Given the description of an element on the screen output the (x, y) to click on. 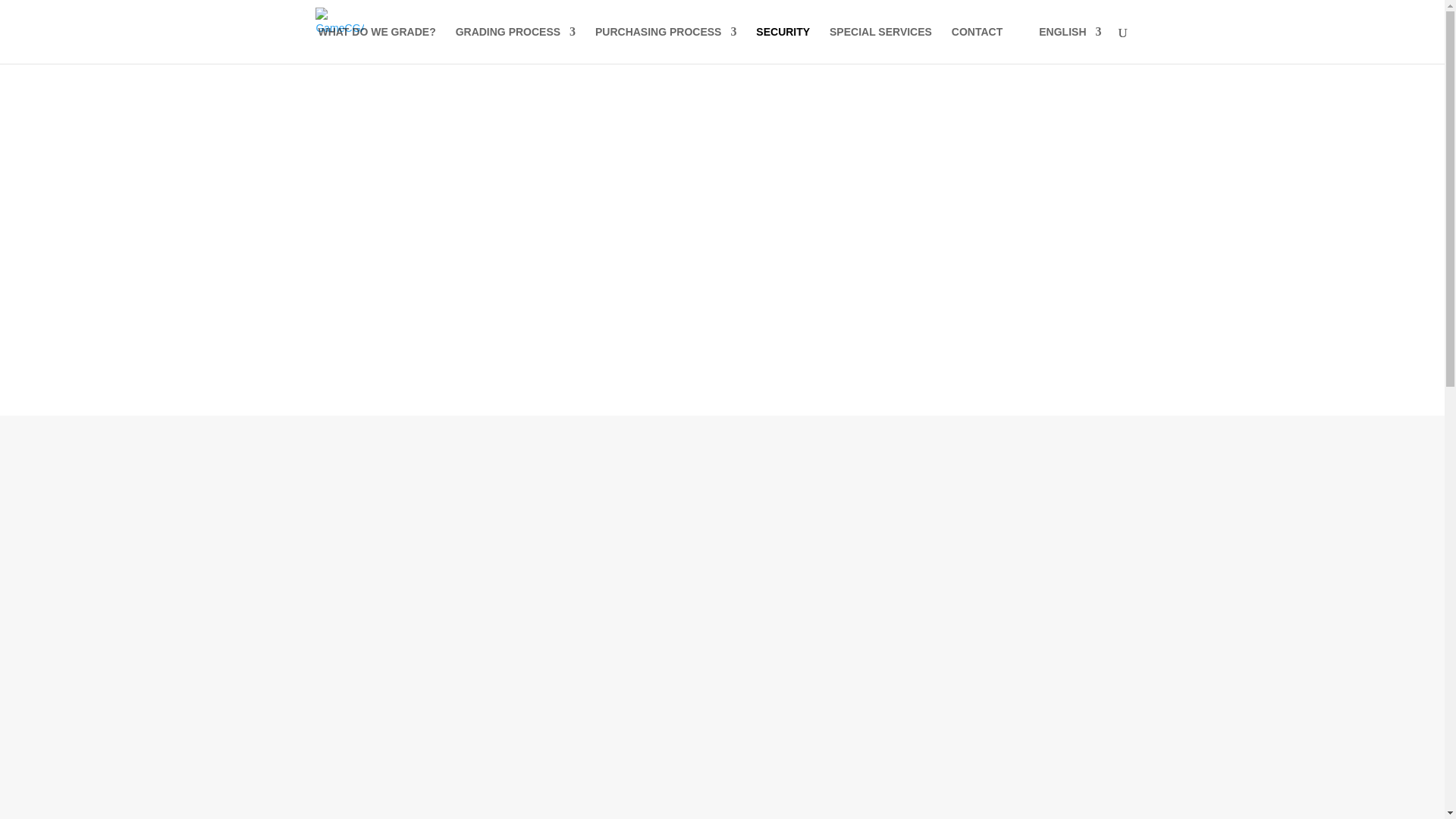
WHAT DO WE GRADE? (376, 44)
CONTACT (977, 44)
ENGLISH (1061, 44)
SPECIAL SERVICES (880, 44)
English (1061, 44)
PURCHASING PROCESS (665, 44)
SECURITY (782, 44)
GRADING PROCESS (515, 44)
